Given the description of an element on the screen output the (x, y) to click on. 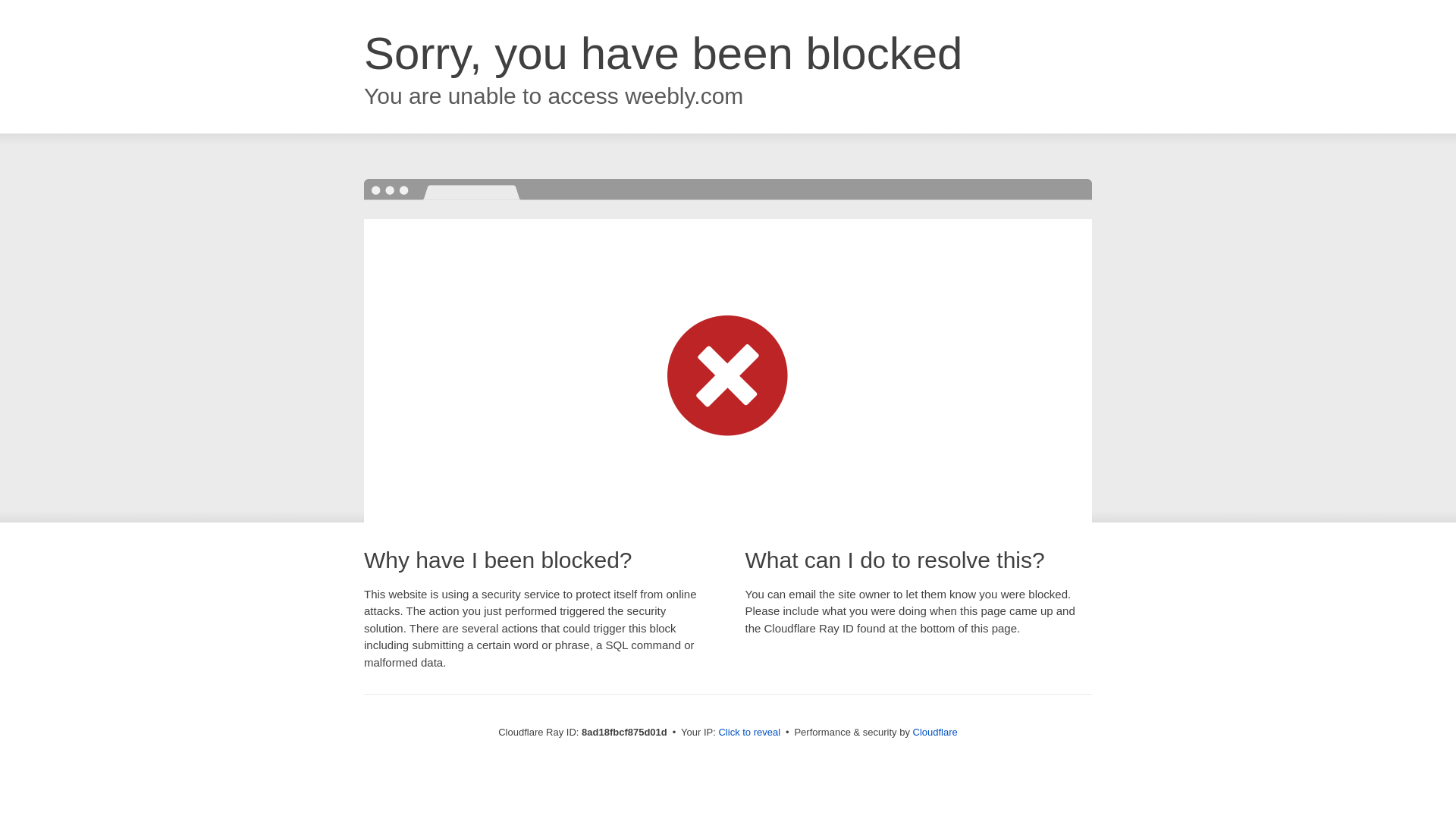
Cloudflare (935, 731)
Click to reveal (748, 732)
